Given the description of an element on the screen output the (x, y) to click on. 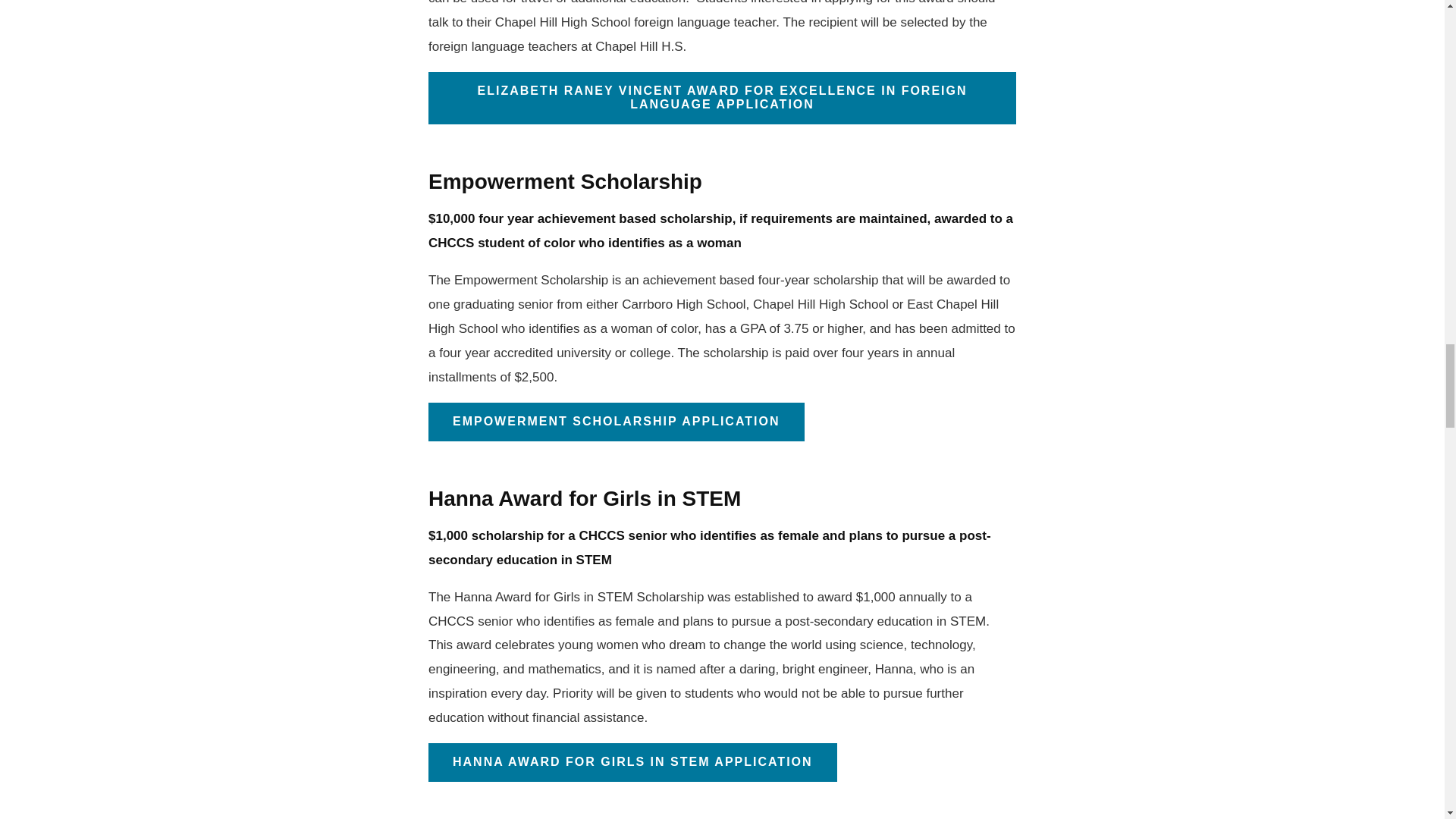
HANNA AWARD FOR GIRLS IN STEM APPLICATION (632, 762)
EMPOWERMENT SCHOLARSHIP APPLICATION (616, 421)
